Given the description of an element on the screen output the (x, y) to click on. 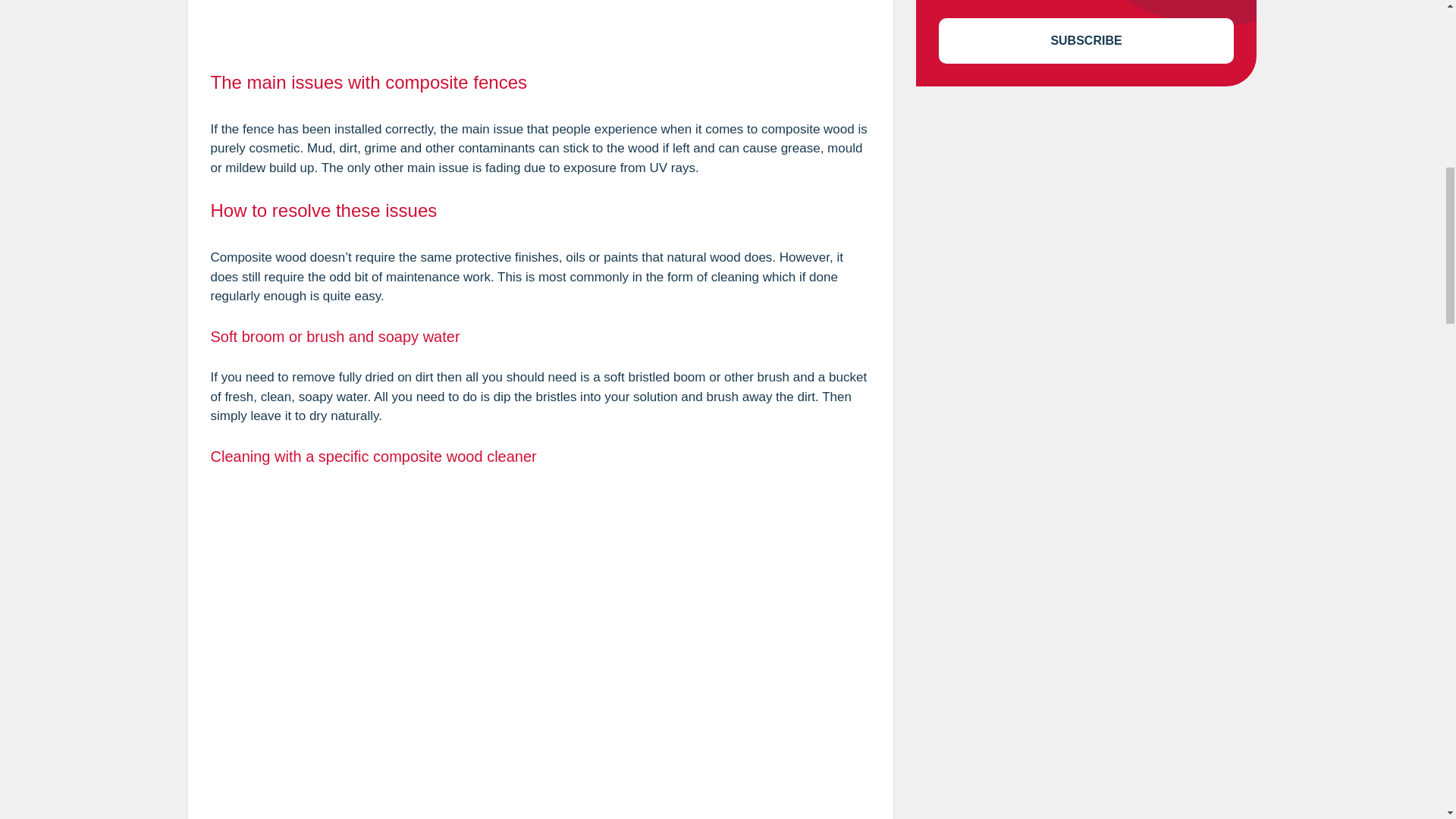
Subscribe (1086, 40)
